Given the description of an element on the screen output the (x, y) to click on. 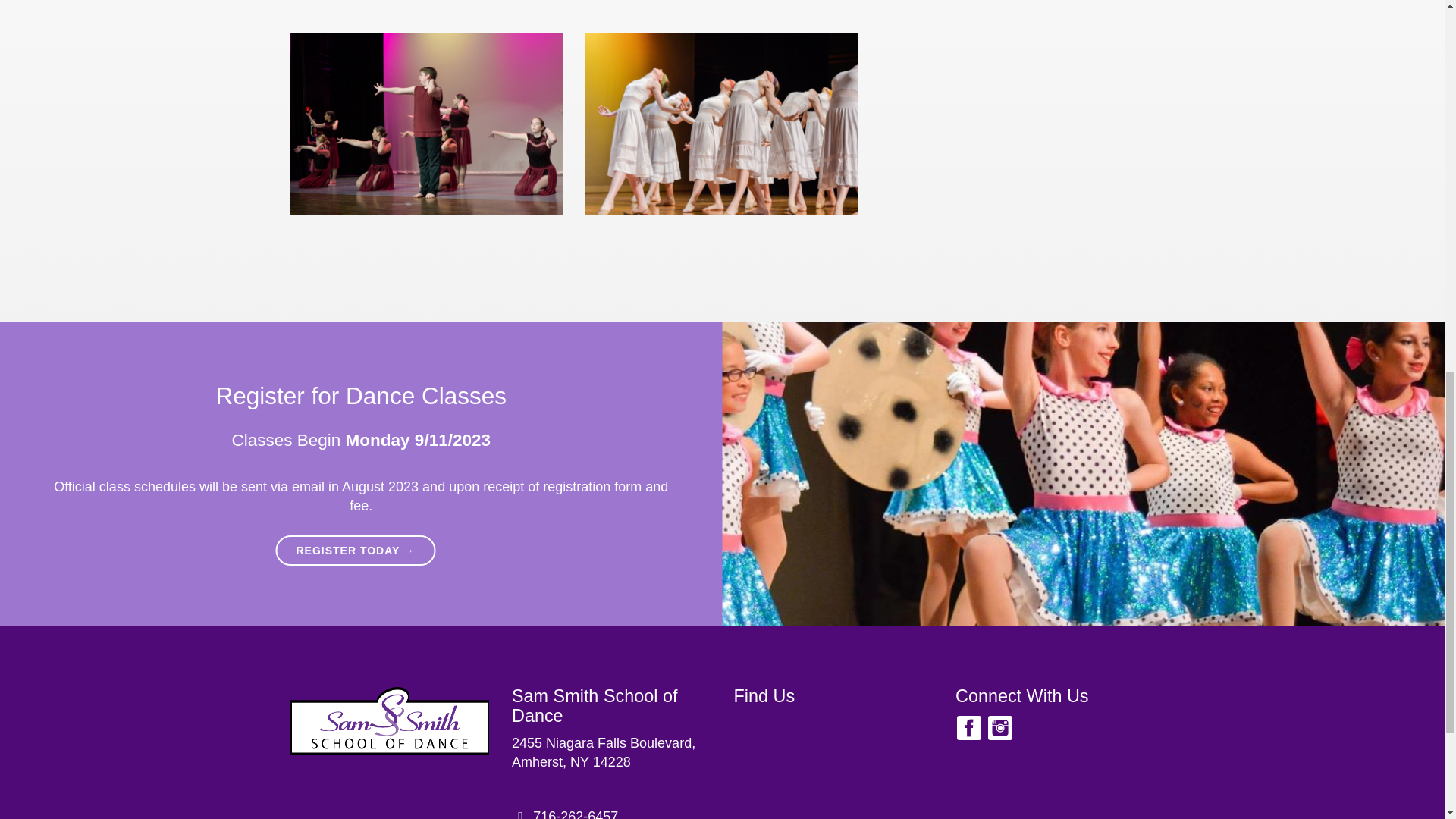
Sam Smith School of Dance (594, 705)
716-262-6457 (603, 752)
Facebook (574, 814)
